Given the description of an element on the screen output the (x, y) to click on. 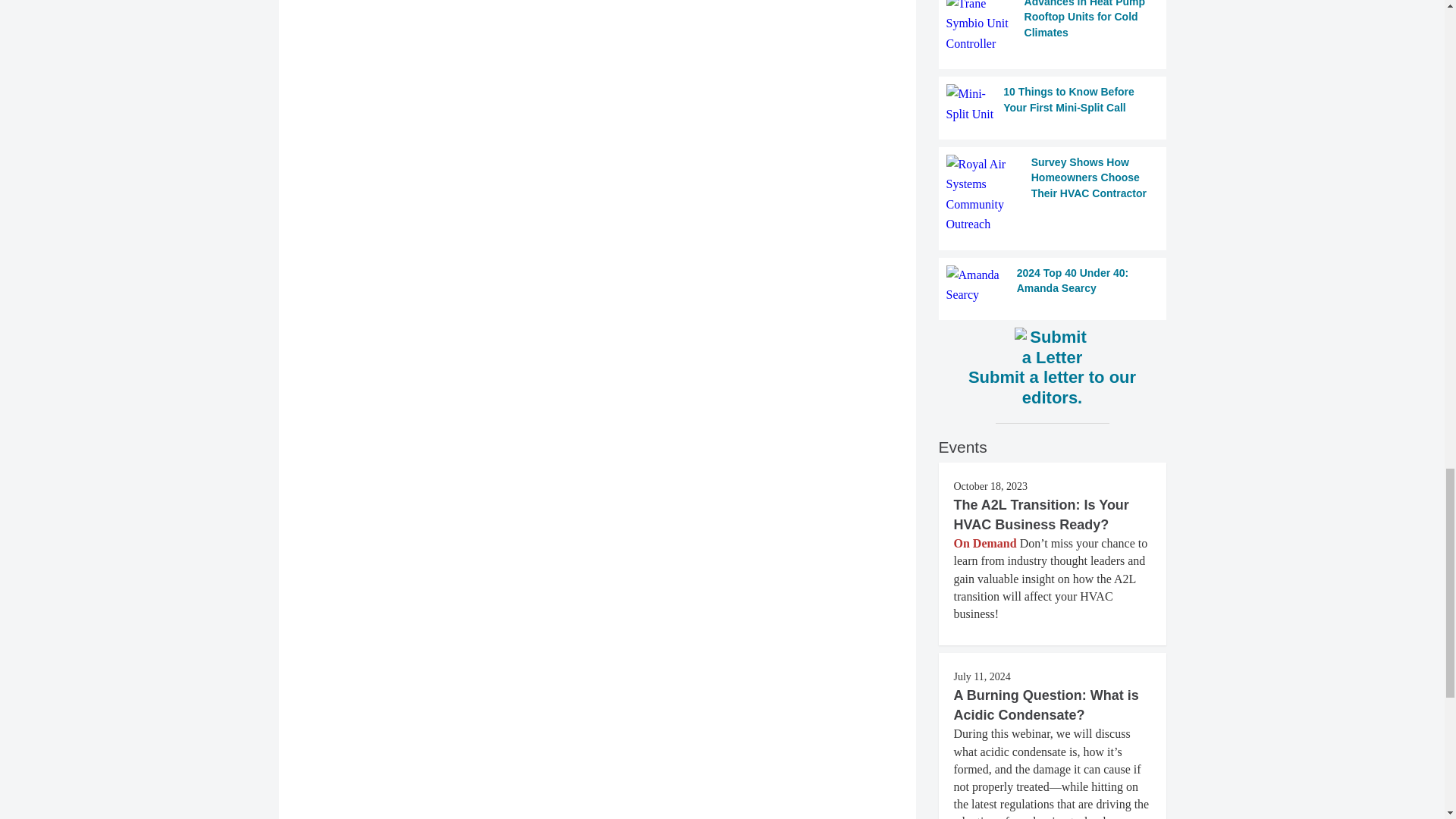
The A2L Transition: Is Your HVAC Business Ready? (1041, 514)
Survey Shows How Homeowners Choose Their HVAC Contractor (1052, 194)
2024 Top 40 Under 40: Amanda Searcy (1052, 285)
Advances in Heat Pump Rooftop Units for Cold Climates (1052, 27)
10 Things to Know Before Your First Mini-Split Call (1052, 104)
A Burning Question: What is Acidic Condensate? (1045, 704)
